Given the description of an element on the screen output the (x, y) to click on. 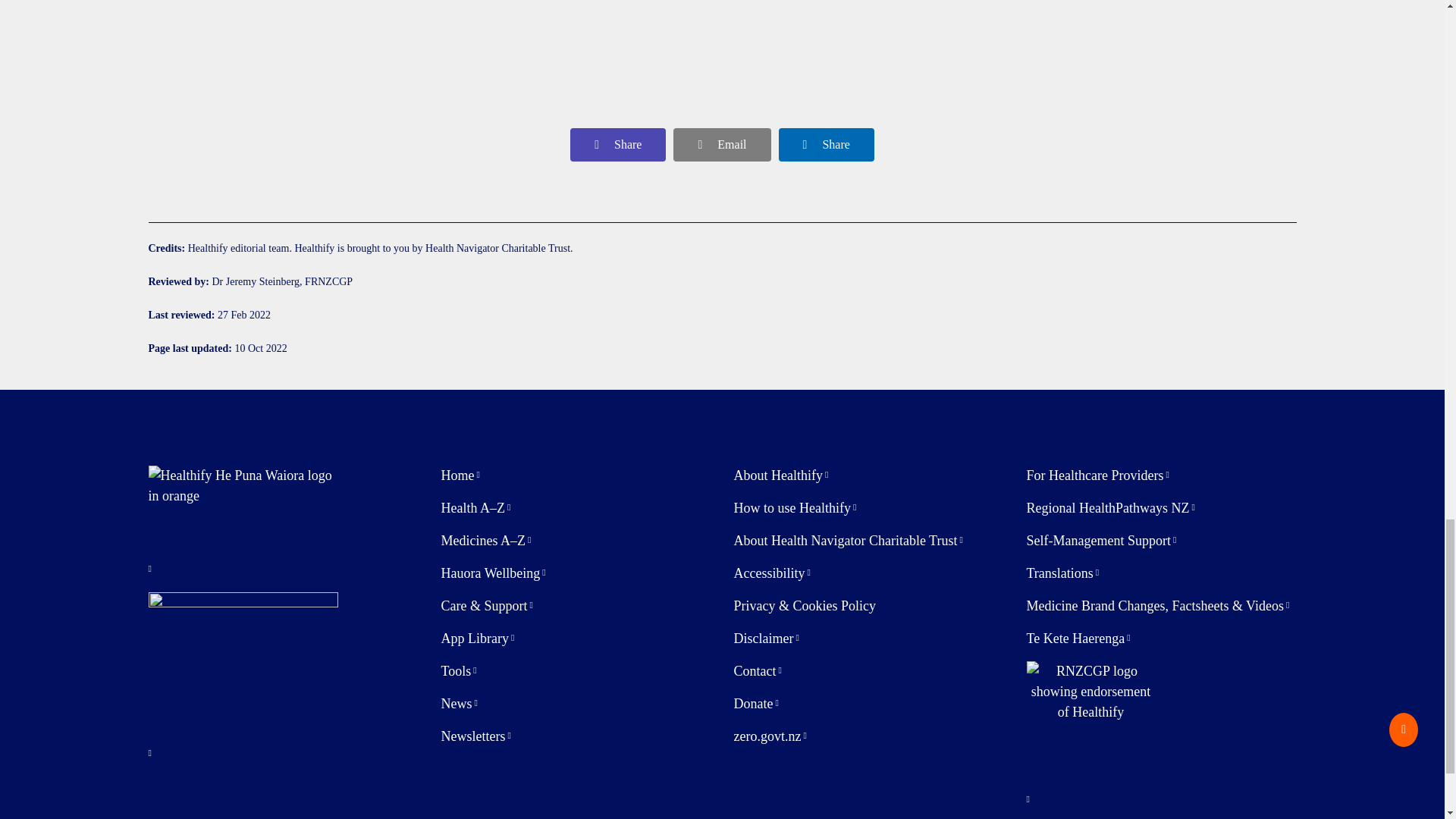
Zero data link (769, 736)
Contact 1737 (651, 36)
Healthpoint website (1042, 36)
Contact Healthline  (261, 36)
How to use the Healthify He Puna Waiora website (795, 507)
